Given the description of an element on the screen output the (x, y) to click on. 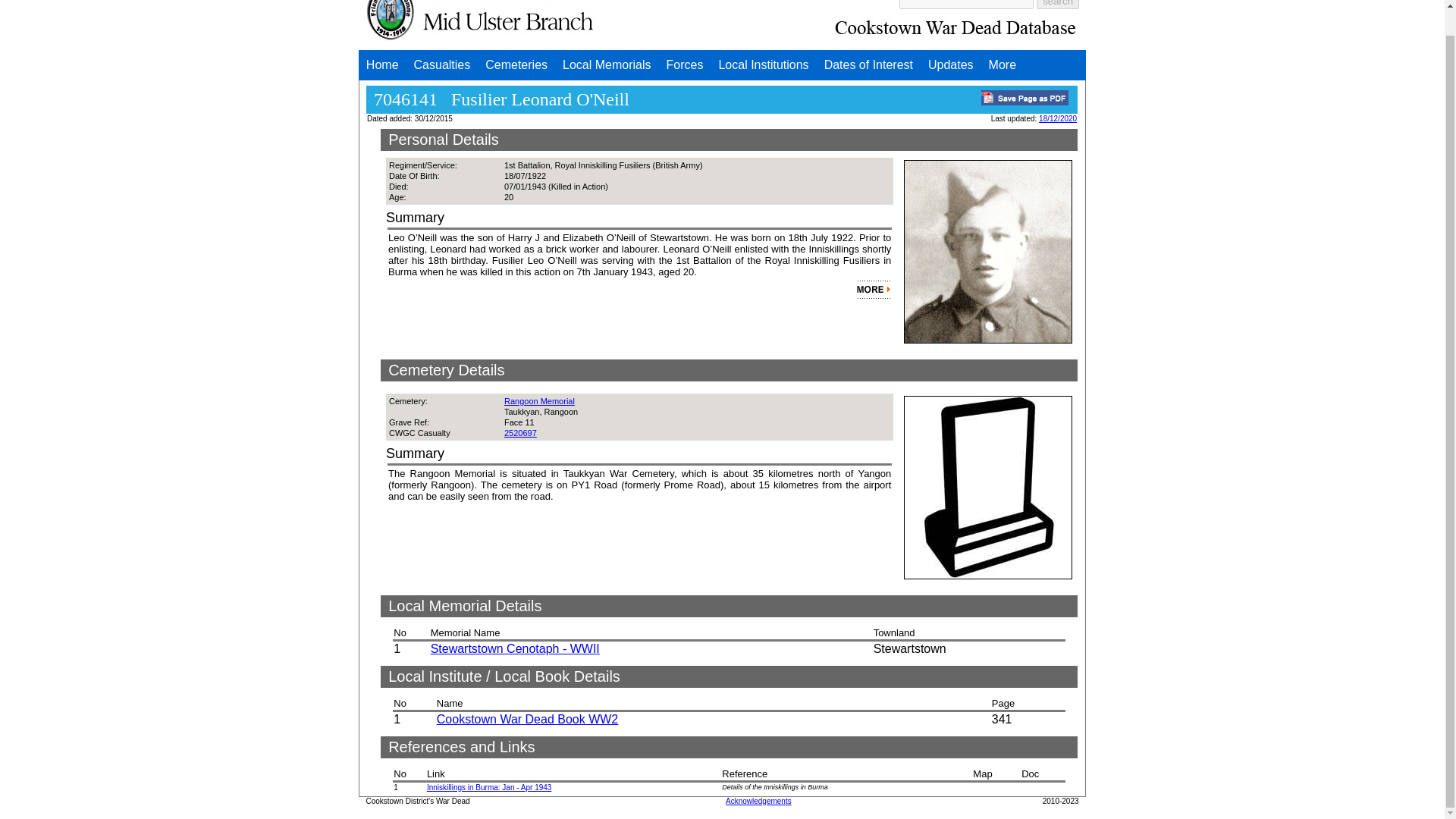
search (1057, 4)
Updates (950, 64)
Home (382, 64)
Dates of Interest (868, 64)
search (1057, 4)
Forces (685, 64)
Friends of the Somme - Mid Ulster Branch (480, 23)
Local Memorials (606, 64)
More (1002, 64)
